Given the description of an element on the screen output the (x, y) to click on. 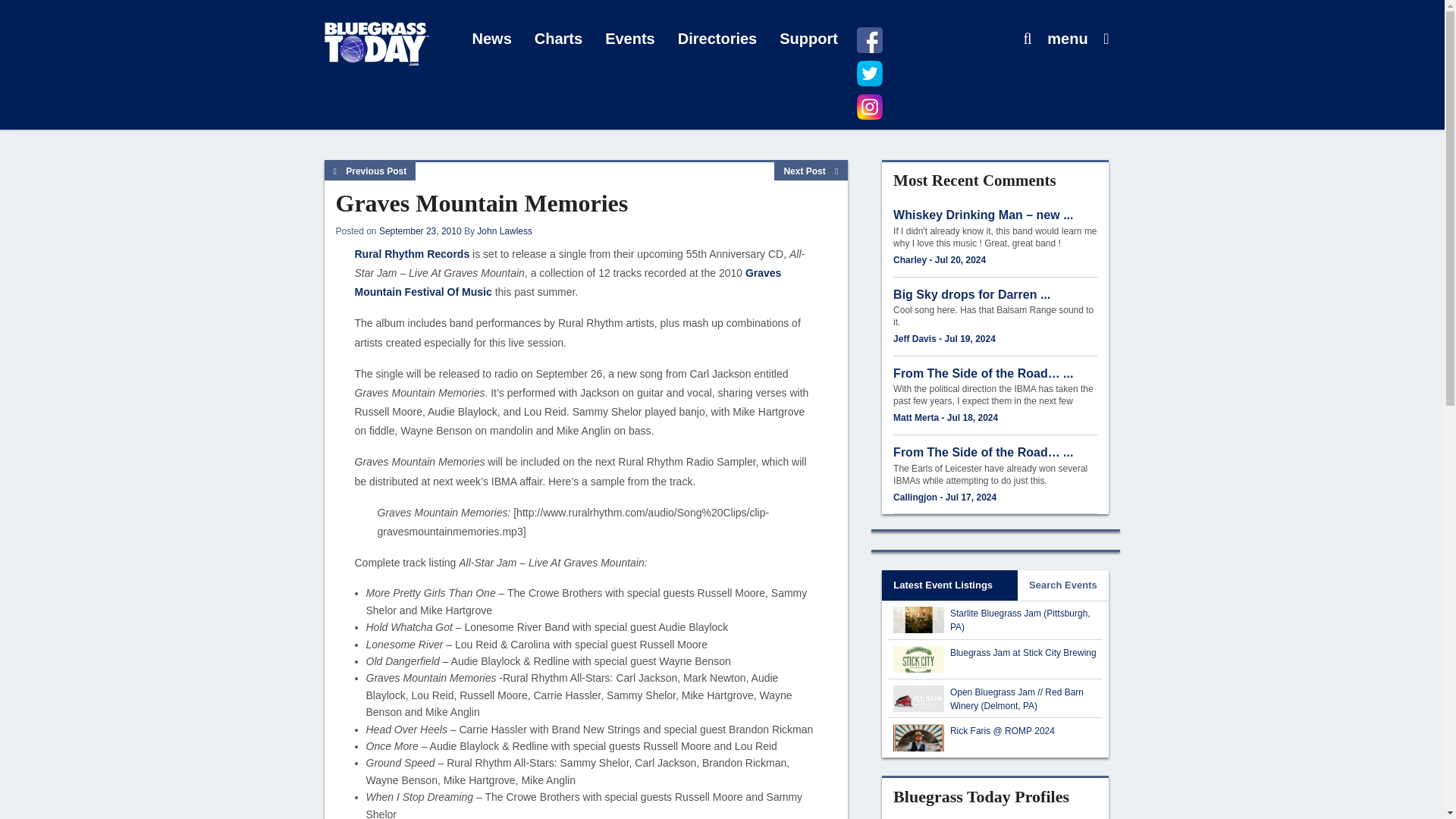
John Lawless (504, 231)
Rural Rhythm Records (412, 254)
Visit Graves Mountain online (568, 282)
menu (1066, 39)
Support (808, 39)
News (491, 39)
Directories (717, 39)
Graves Mountain Festival Of Music (568, 282)
September 23, 2010 (419, 231)
Events (630, 39)
Next Post (810, 171)
Previous Post (370, 171)
Charts (558, 39)
Visit Rural Rhythm online (412, 254)
